Given the description of an element on the screen output the (x, y) to click on. 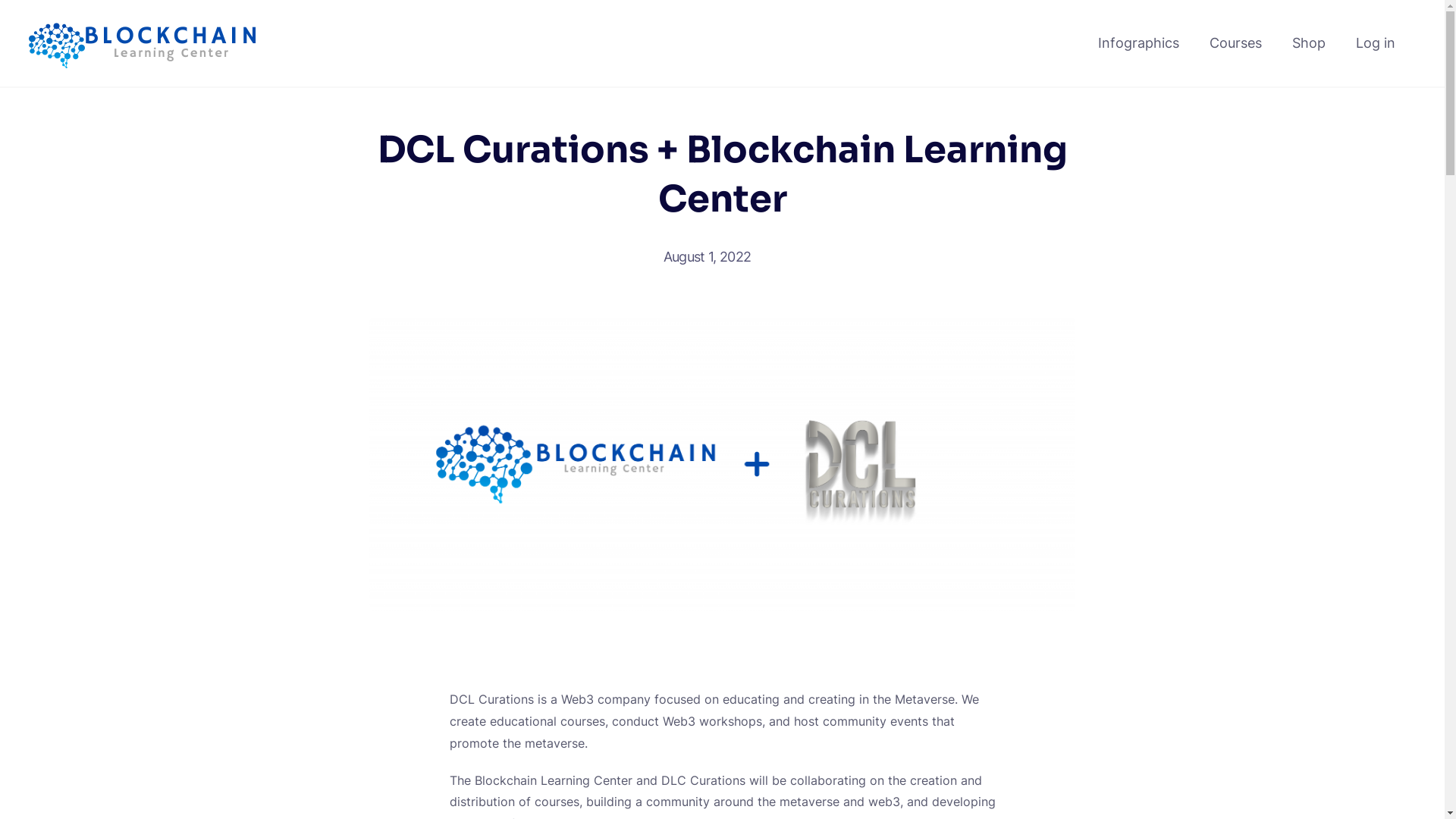
Log in Element type: text (1375, 42)
Infographics Element type: text (1138, 42)
Courses Element type: text (1235, 42)
Shop Element type: text (1308, 42)
August 1, 2022 Element type: text (714, 256)
